Given the description of an element on the screen output the (x, y) to click on. 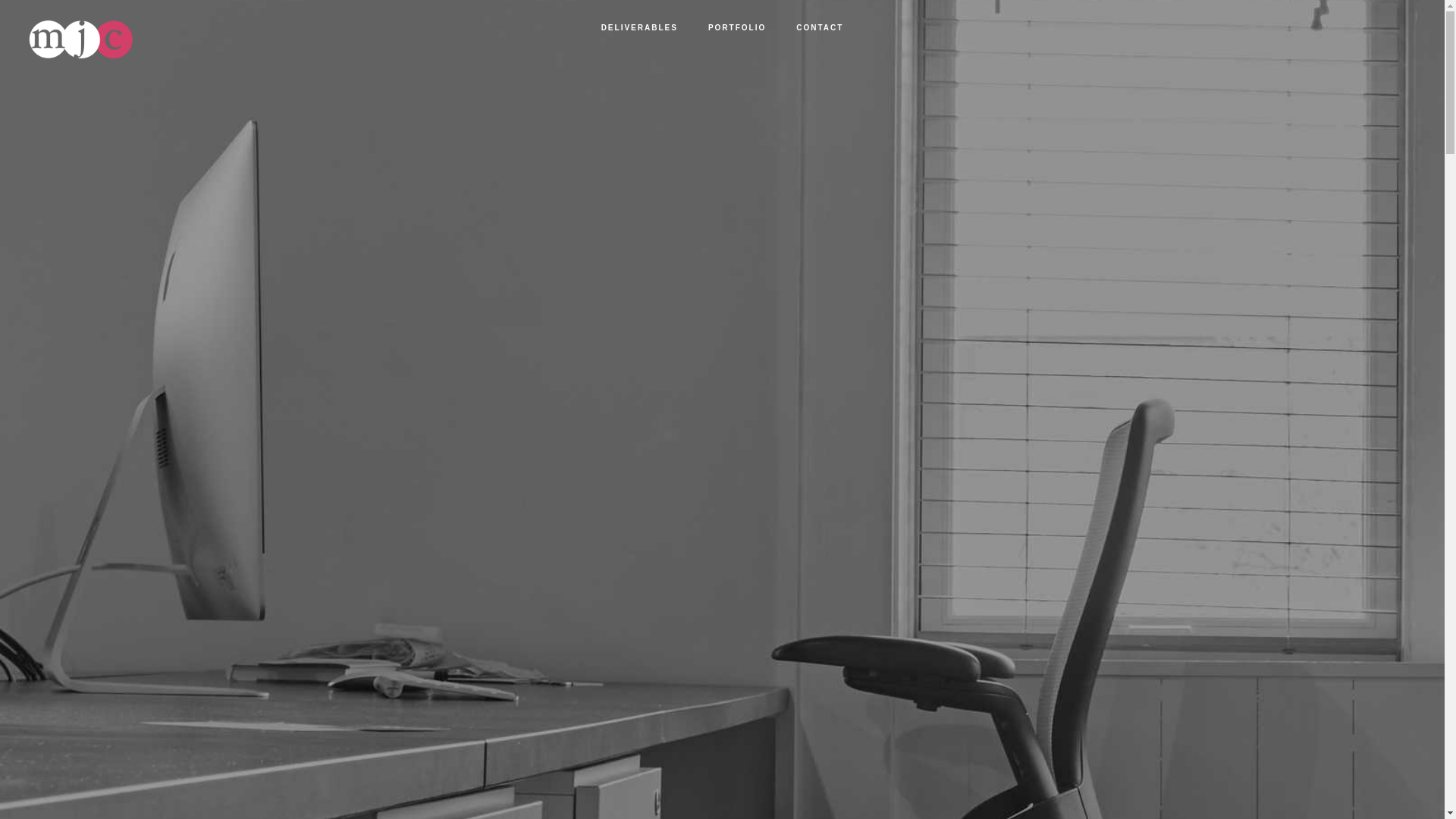
CONTACT (819, 27)
DELIVERABLES (639, 27)
MARK JOHNSON COMMUNICATIONS (162, 39)
PORTFOLIO (736, 27)
